Given the description of an element on the screen output the (x, y) to click on. 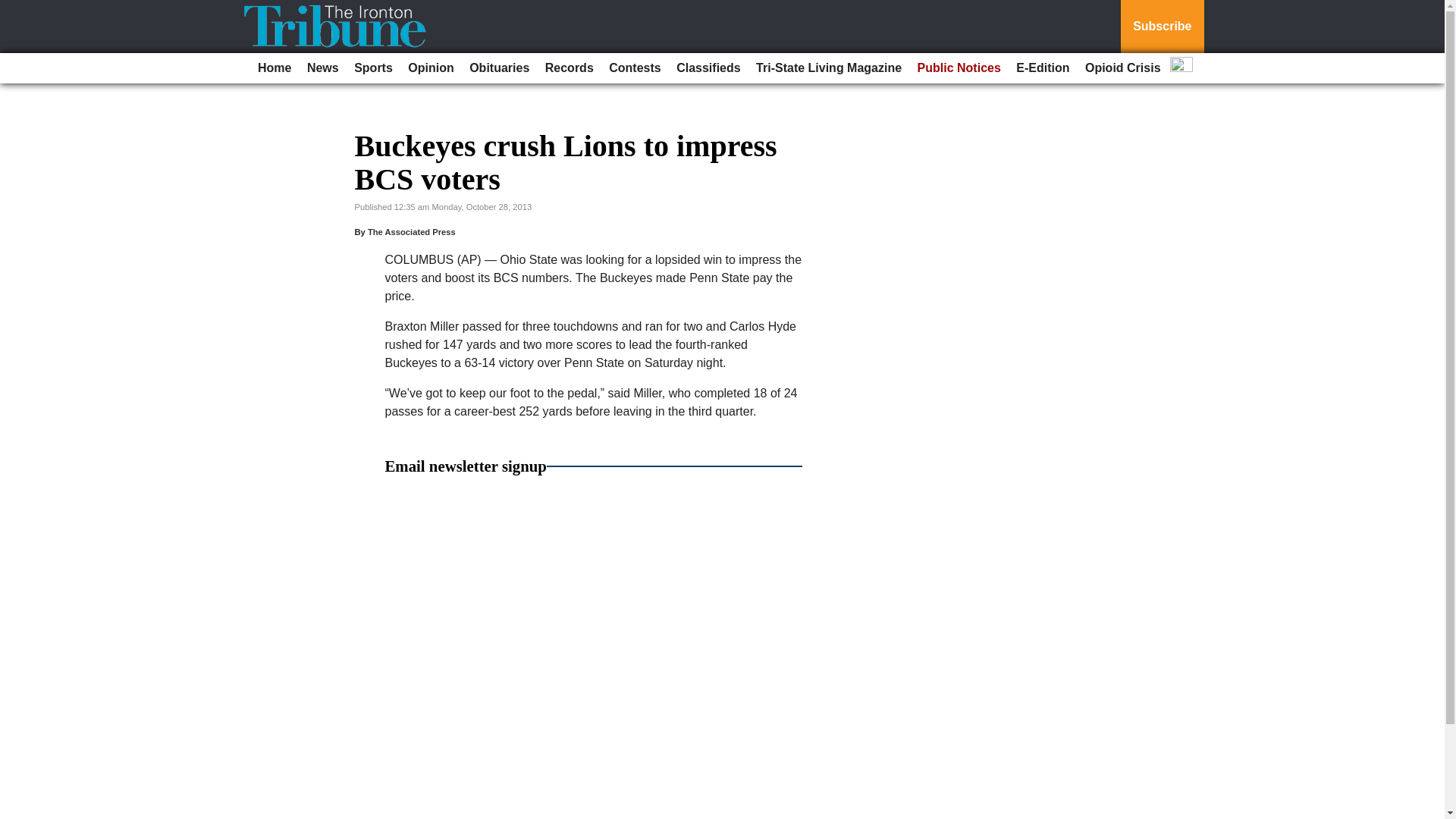
News (323, 68)
Opioid Crisis (1122, 68)
Contests (634, 68)
Obituaries (499, 68)
Subscribe (1162, 26)
Sports (372, 68)
Classifieds (707, 68)
Public Notices (959, 68)
The Associated Press (411, 231)
Go (13, 9)
